Given the description of an element on the screen output the (x, y) to click on. 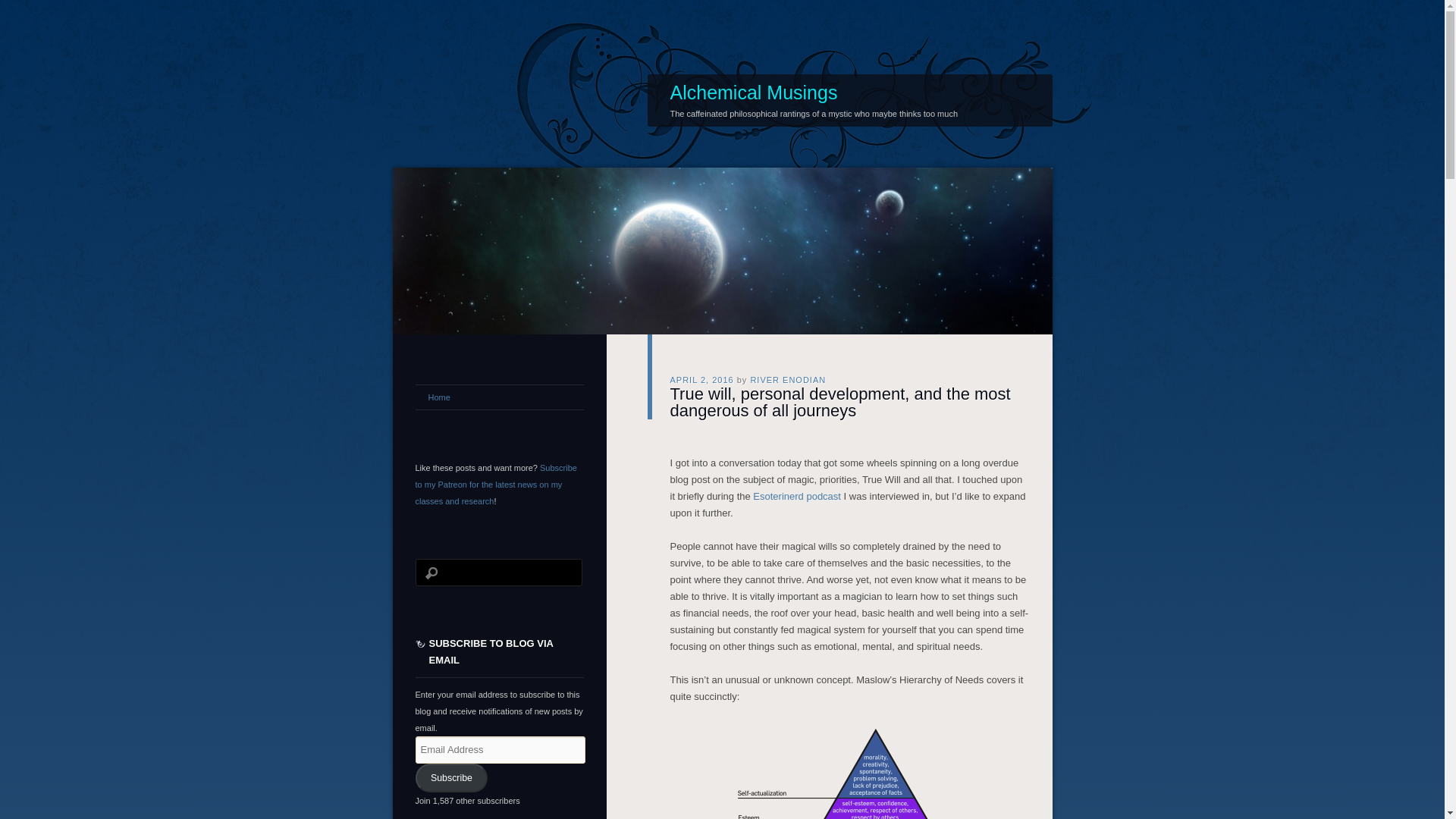
Alchemical Musings (753, 92)
Home (498, 396)
View all posts by River Enodian (787, 379)
APRIL 2, 2016 (701, 379)
Alchemical Musings (753, 92)
2:10 am (701, 379)
Subscribe (450, 777)
RIVER ENODIAN (787, 379)
Esoterinerd podcast (796, 495)
Search (21, 7)
